Given the description of an element on the screen output the (x, y) to click on. 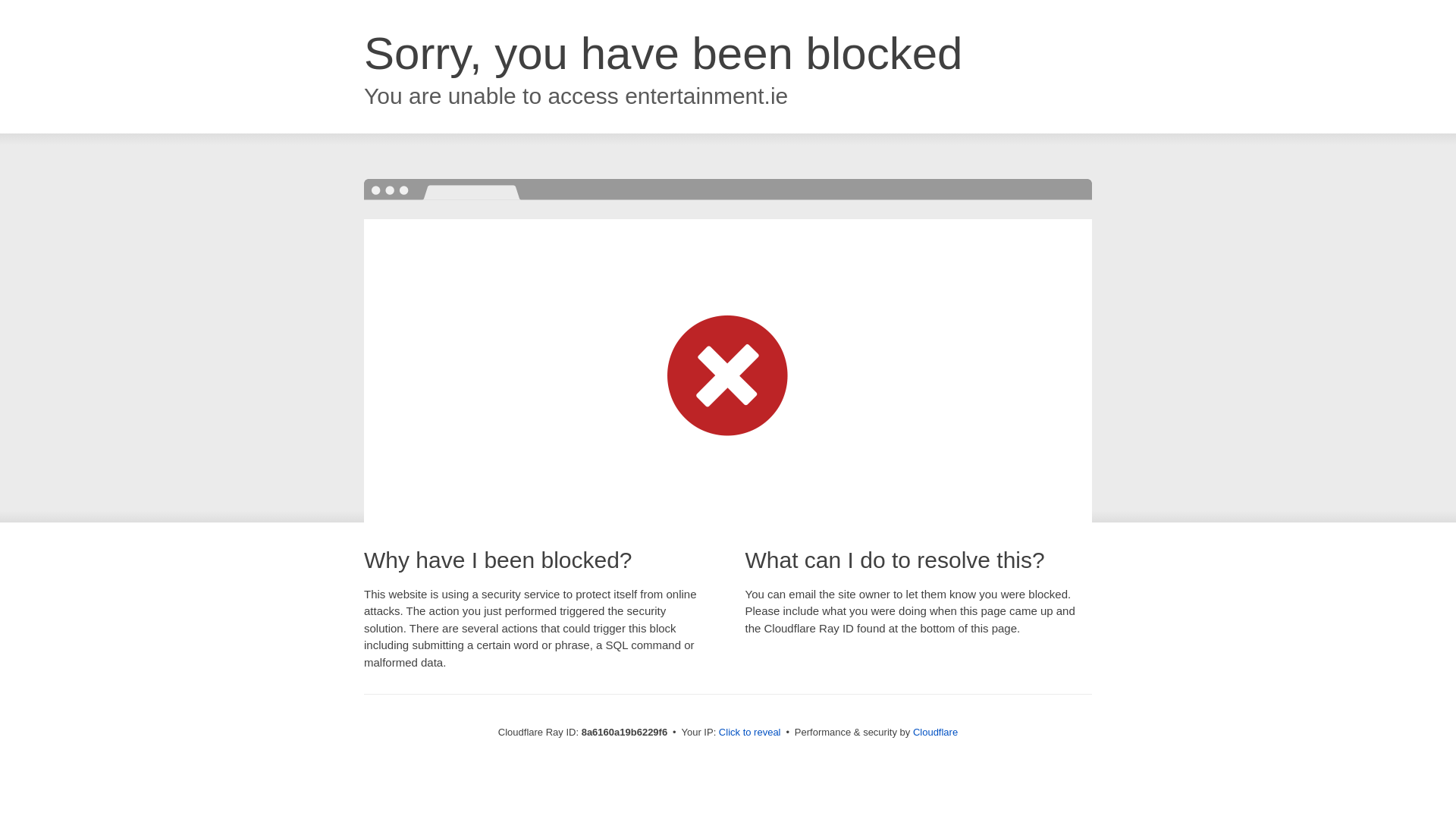
Cloudflare (935, 731)
Click to reveal (749, 732)
